Given the description of an element on the screen output the (x, y) to click on. 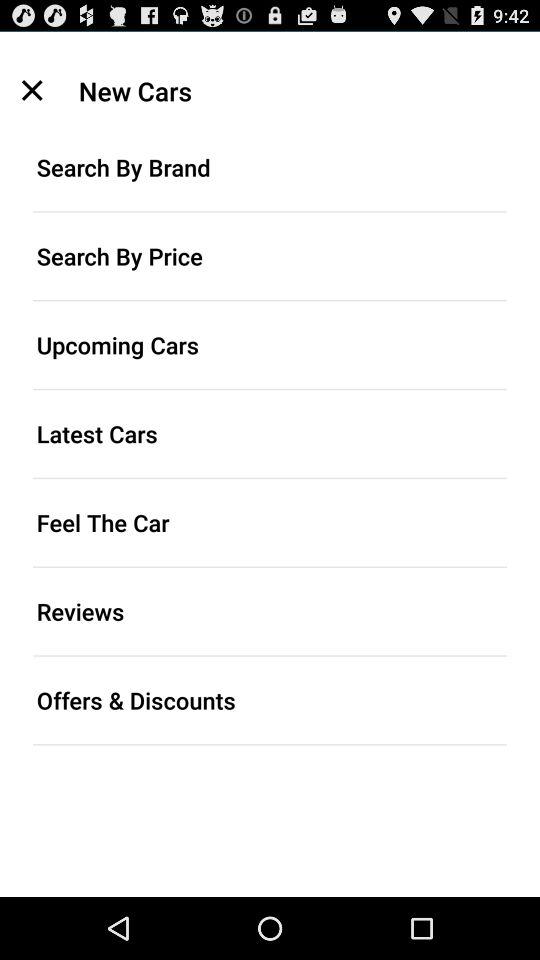
flip to the offers & discounts icon (270, 699)
